Given the description of an element on the screen output the (x, y) to click on. 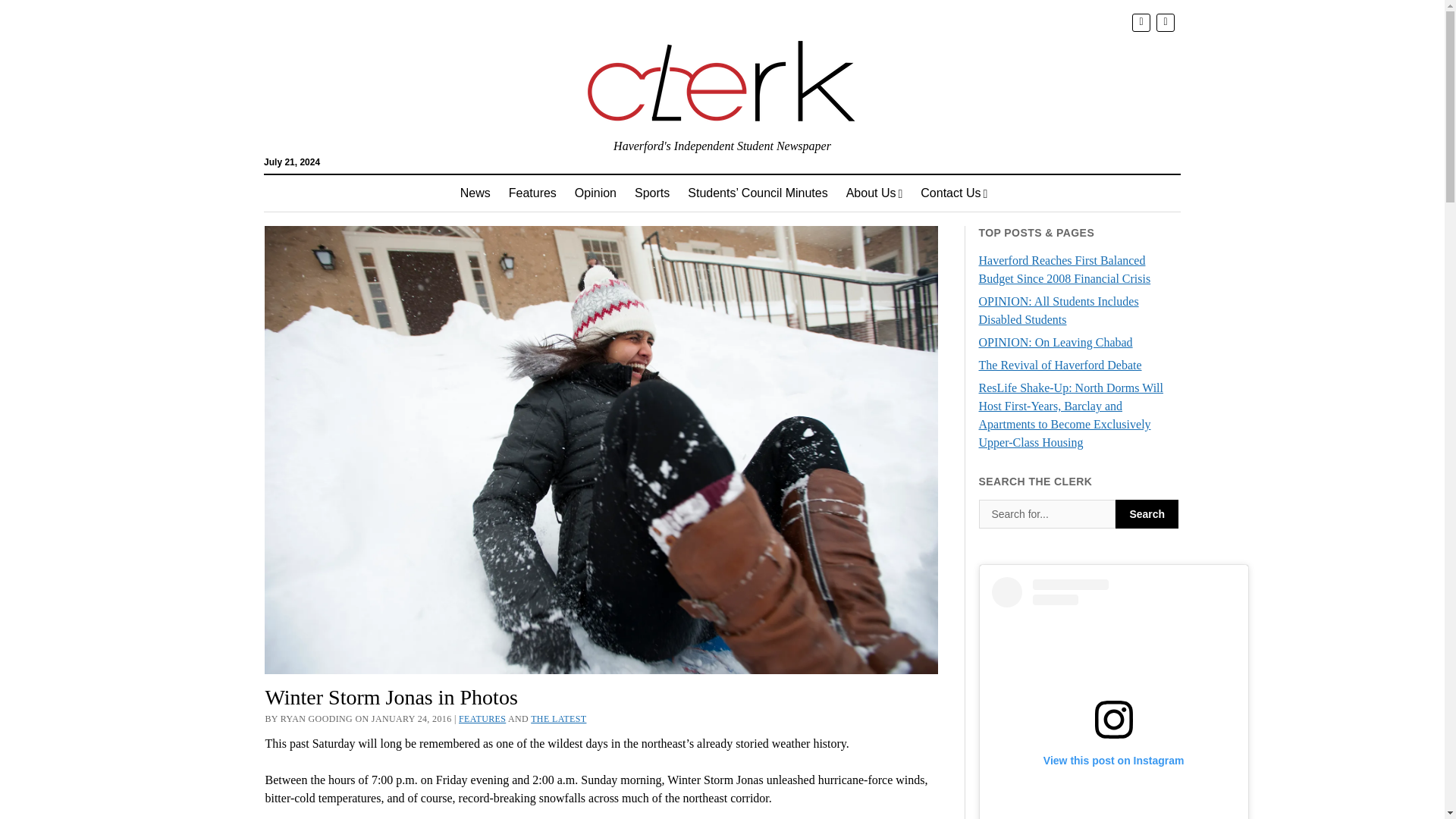
Search (1047, 513)
View all posts in The Latest (558, 718)
Opinion (596, 193)
About Us (874, 193)
FEATURES (481, 718)
Contact Us (953, 193)
News (475, 193)
Features (532, 193)
Sports (652, 193)
Search (1146, 513)
View all posts in Features (481, 718)
Search (1146, 513)
THE LATEST (558, 718)
